Given the description of an element on the screen output the (x, y) to click on. 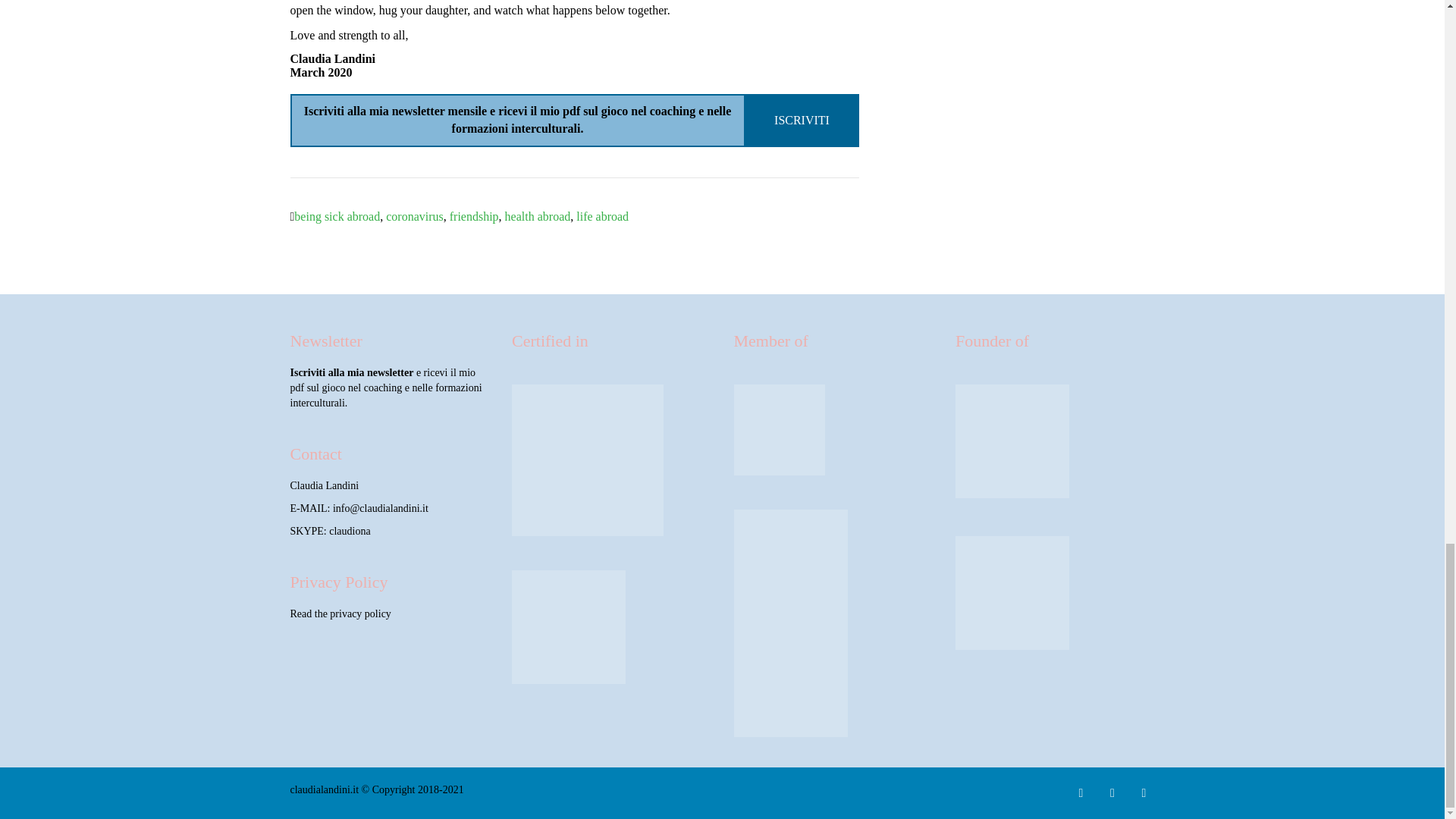
coronavirus (414, 215)
friendship (474, 215)
life abroad (602, 215)
health abroad (537, 215)
ISCRIVITI (801, 119)
Iscriviti alla mia newsletter (351, 372)
being sick abroad (337, 215)
